Given the description of an element on the screen output the (x, y) to click on. 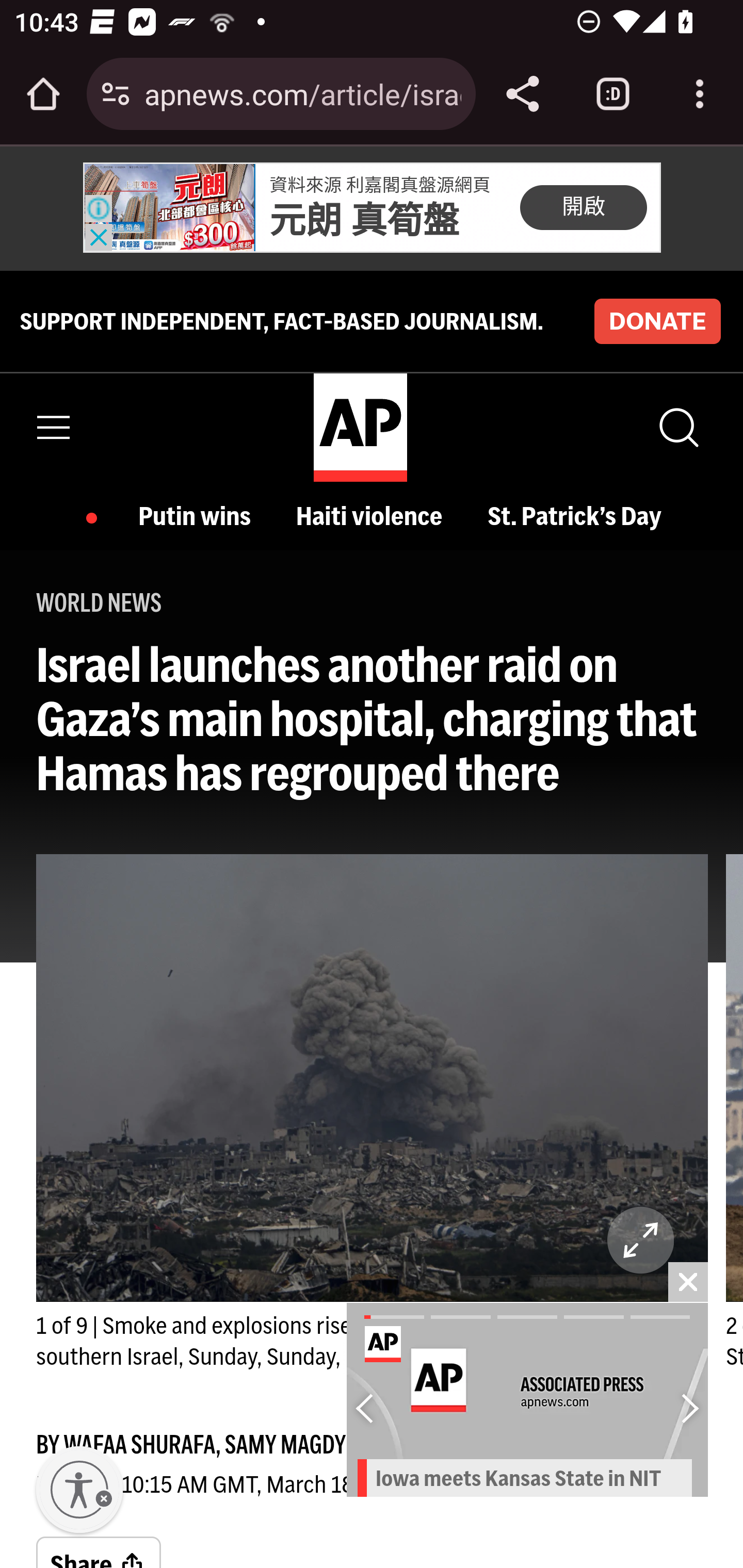
Open the home page (43, 93)
Connection is secure (115, 93)
Share (522, 93)
Switch or close tabs (612, 93)
Customize and control Google Chrome (699, 93)
B29955179 (169, 208)
資料來源 利嘉閣真盤源網頁 (379, 185)
開啟 (582, 206)
元朗 真筍盤 (363, 221)
DONATE (657, 320)
home page AP Logo (359, 426)
Menu (54, 427)
Show Search (677, 427)
Putin wins (198, 516)
Haiti violence (373, 516)
St. Patrick’s Day (579, 516)
WORLD NEWS (99, 602)
Full screen button (641, 1239)
Enable accessibility (79, 1490)
Share (99, 1551)
